Given the description of an element on the screen output the (x, y) to click on. 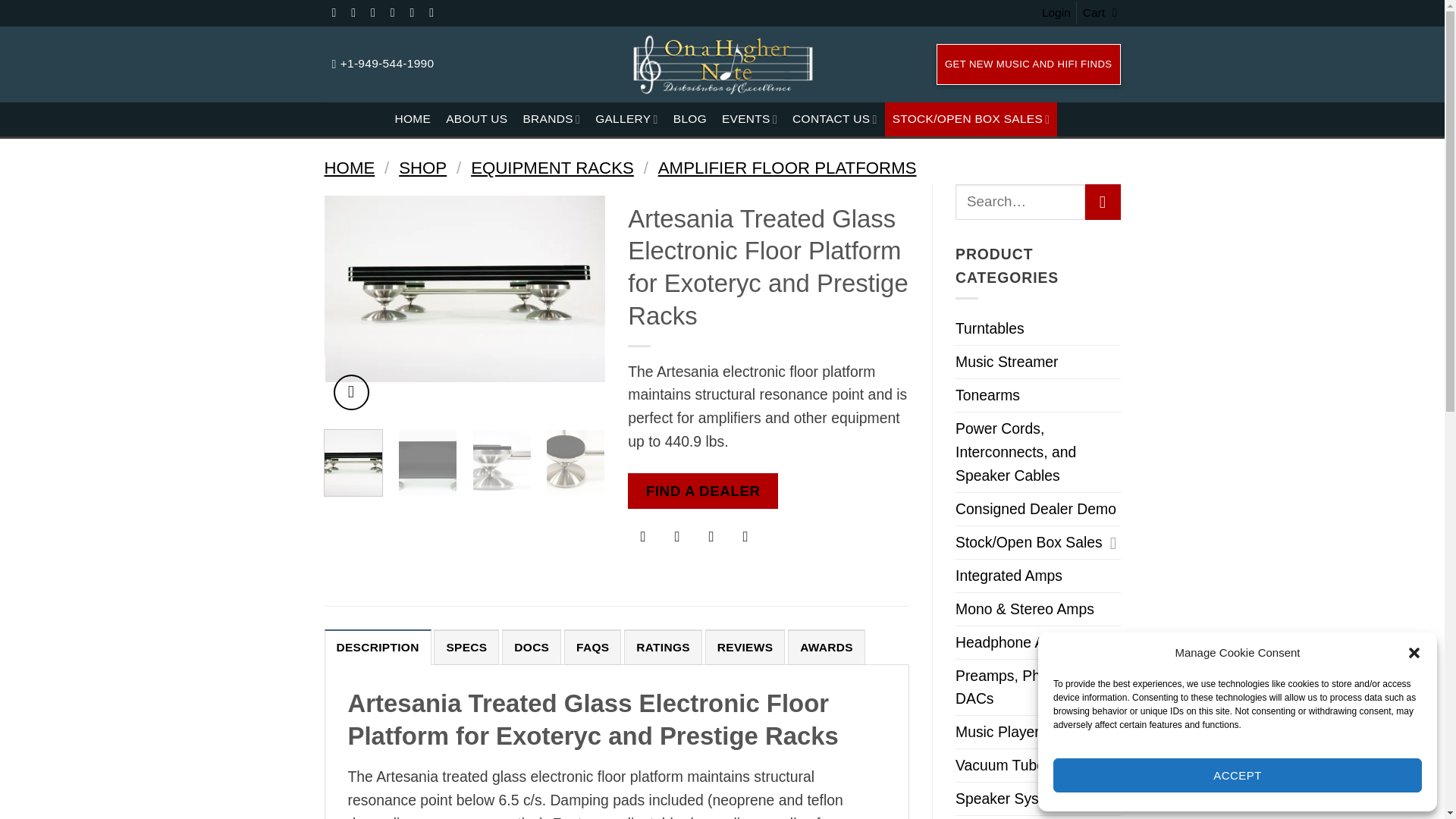
Login (1056, 13)
HOME (413, 119)
BRANDS (551, 119)
Cart (1102, 13)
Cart (1102, 13)
ACCEPT (1237, 775)
On a Higher Note - Distributor of Excellence (722, 64)
GET NEW MUSIC AND HIFI FINDS (1028, 64)
ABOUT US (476, 119)
